Given the description of an element on the screen output the (x, y) to click on. 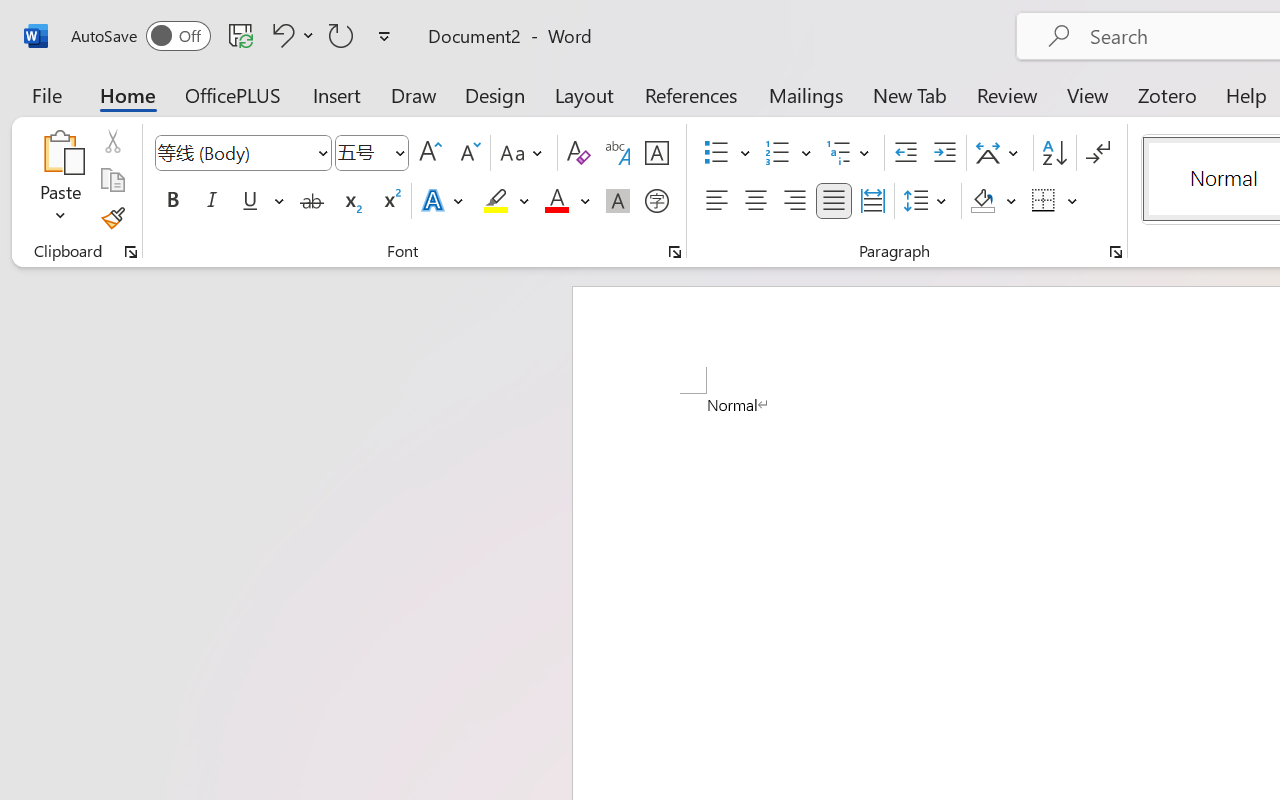
Repeat Doc Close (341, 35)
Character Shading (618, 201)
Office Clipboard... (131, 252)
Undo Apply Quick Style (290, 35)
Mailings (806, 94)
Format Painter (112, 218)
Strikethrough (312, 201)
Phonetic Guide... (618, 153)
Bullets (727, 153)
Subscript (350, 201)
Center (756, 201)
Draw (413, 94)
Character Border (656, 153)
Numbering (778, 153)
Font Size (372, 153)
